Given the description of an element on the screen output the (x, y) to click on. 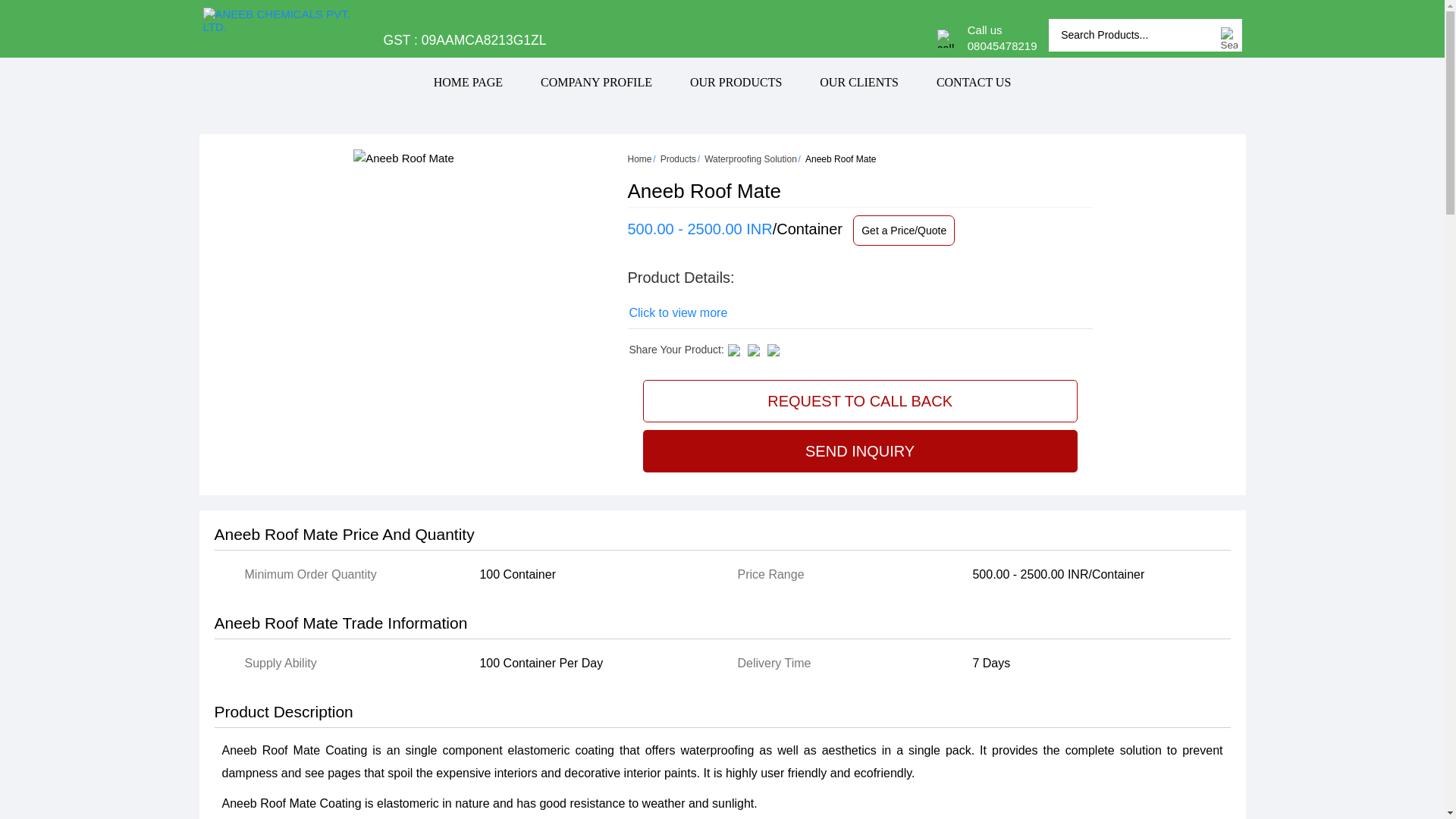
Search Products... (1133, 34)
HOME PAGE (467, 82)
OUR PRODUCTS (735, 82)
CONTACT US (973, 82)
OUR CLIENTS (858, 82)
Products (678, 158)
COMPANY PROFILE (596, 82)
Search Products... (1133, 34)
Home (639, 158)
Click to view more (678, 312)
